Given the description of an element on the screen output the (x, y) to click on. 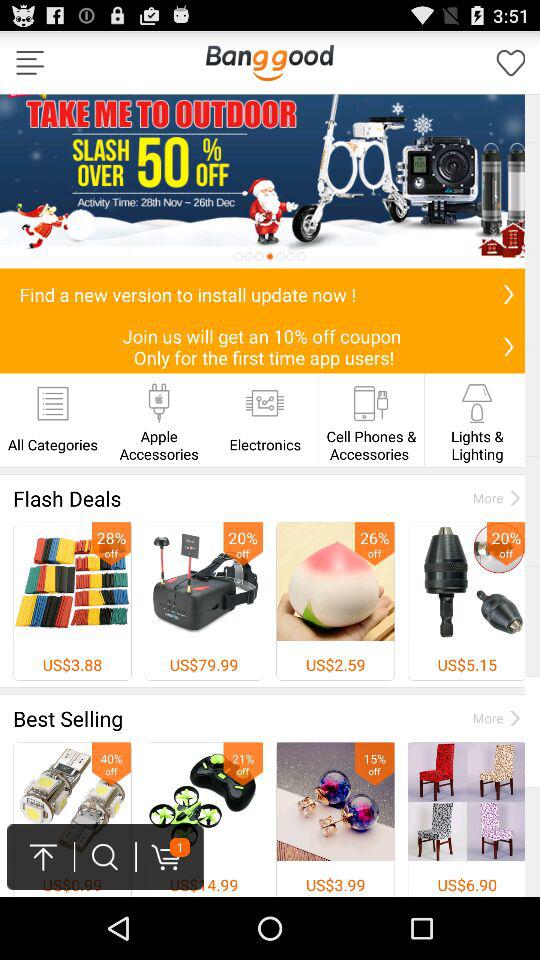
advertisement (270, 181)
